Given the description of an element on the screen output the (x, y) to click on. 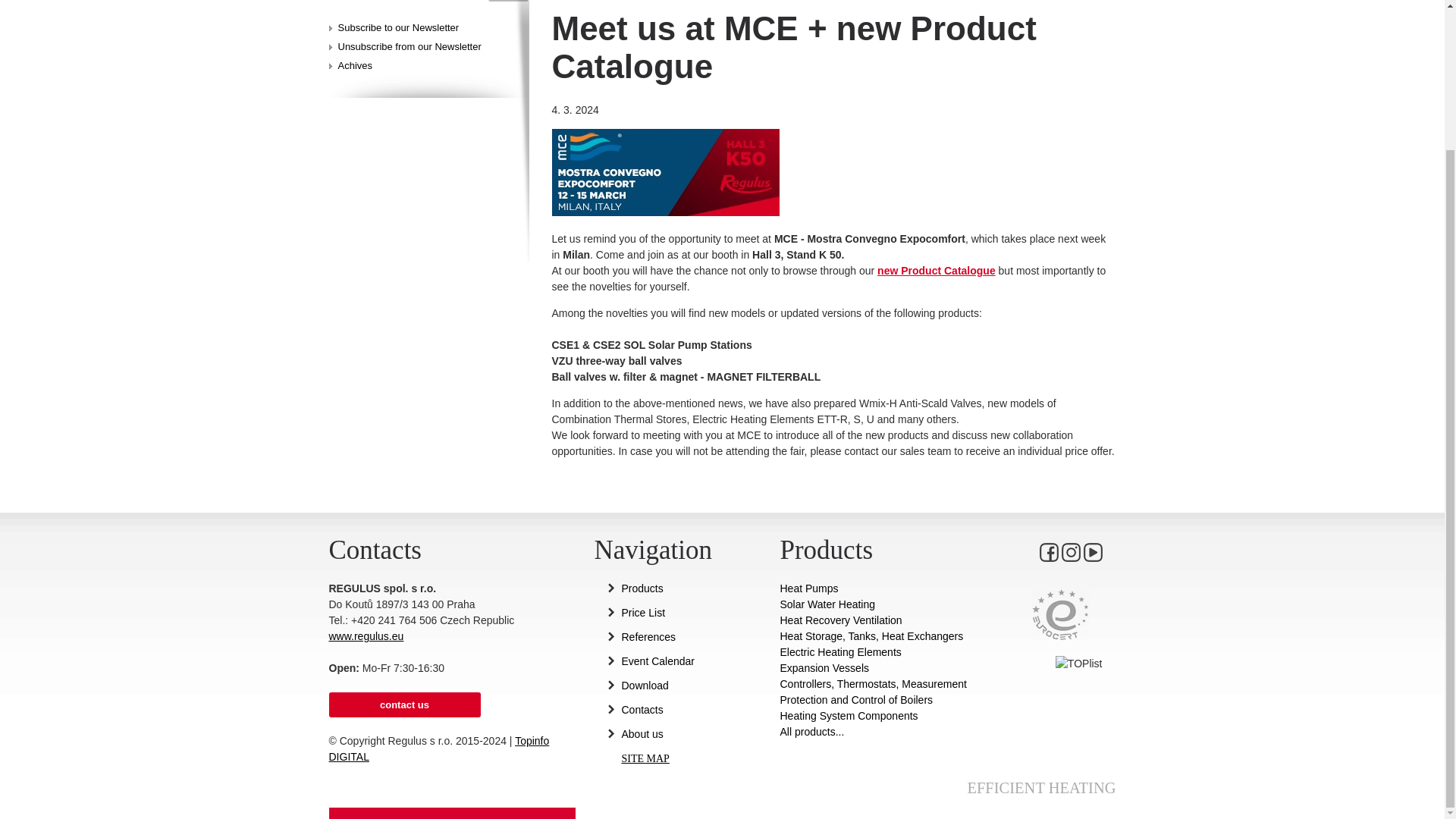
www.regulus.eu (366, 635)
Products (684, 588)
Heat Pumps (878, 588)
Heat Recovery Ventilation (878, 620)
Subscribe to our Newsletter (398, 27)
Achives (354, 65)
Solar Water Heating (878, 604)
Contacts (684, 709)
Event Calendar (684, 661)
Heat Storage, Tanks, Heat Exchangers (878, 636)
